Given the description of an element on the screen output the (x, y) to click on. 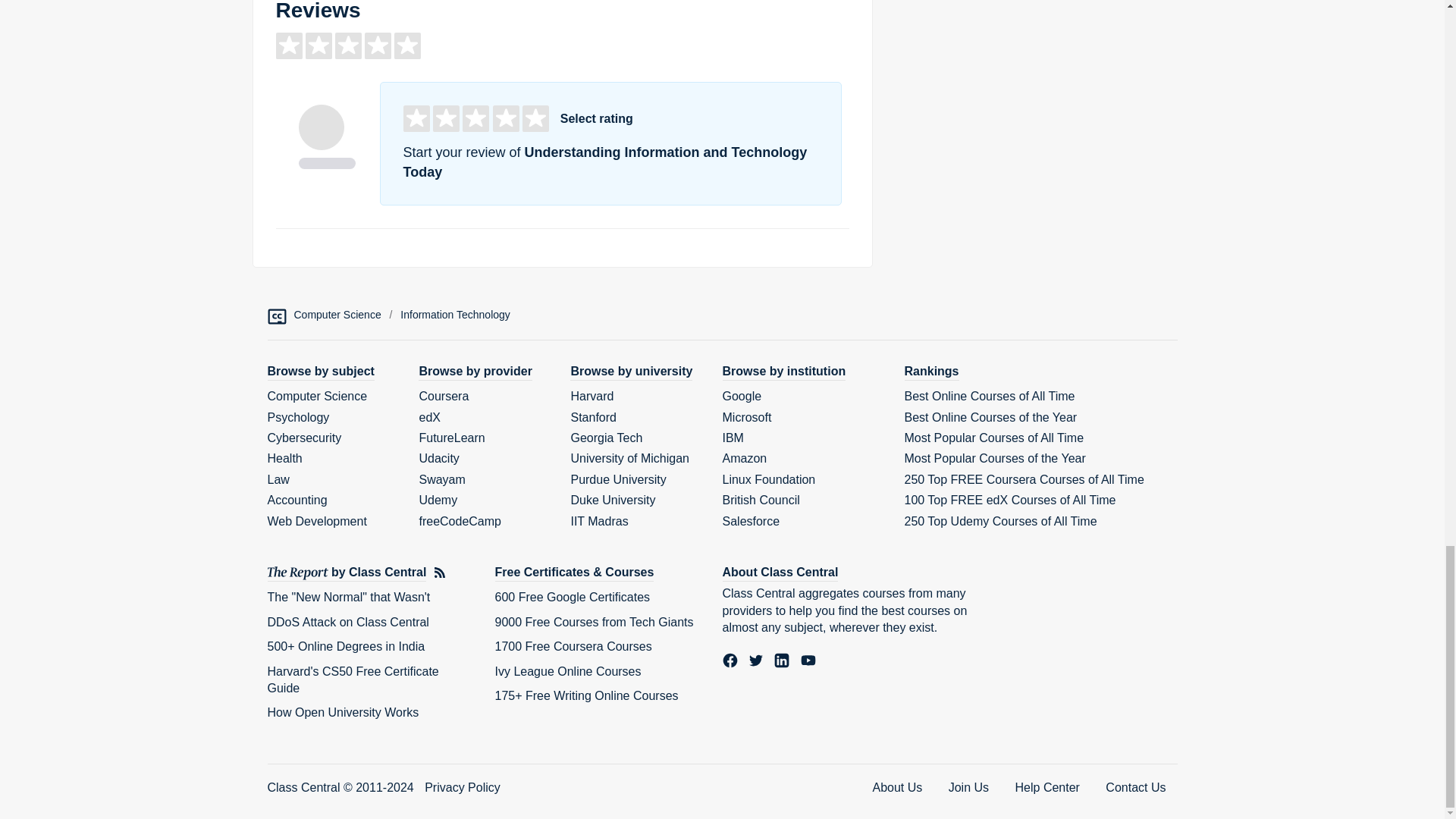
1700 Free Coursera Courses (572, 645)
Free Courses and Certificates (574, 572)
Harvard's CS50 Free Certificate Guide (352, 679)
9000 Free Courses from Tech Giants (594, 621)
The "New Normal" that Wasn't (347, 596)
How Open University Works (342, 712)
Ivy League Online Courses (567, 671)
DDoS Attack on Class Central (347, 621)
600 Free Google Certificates (572, 596)
